Given the description of an element on the screen output the (x, y) to click on. 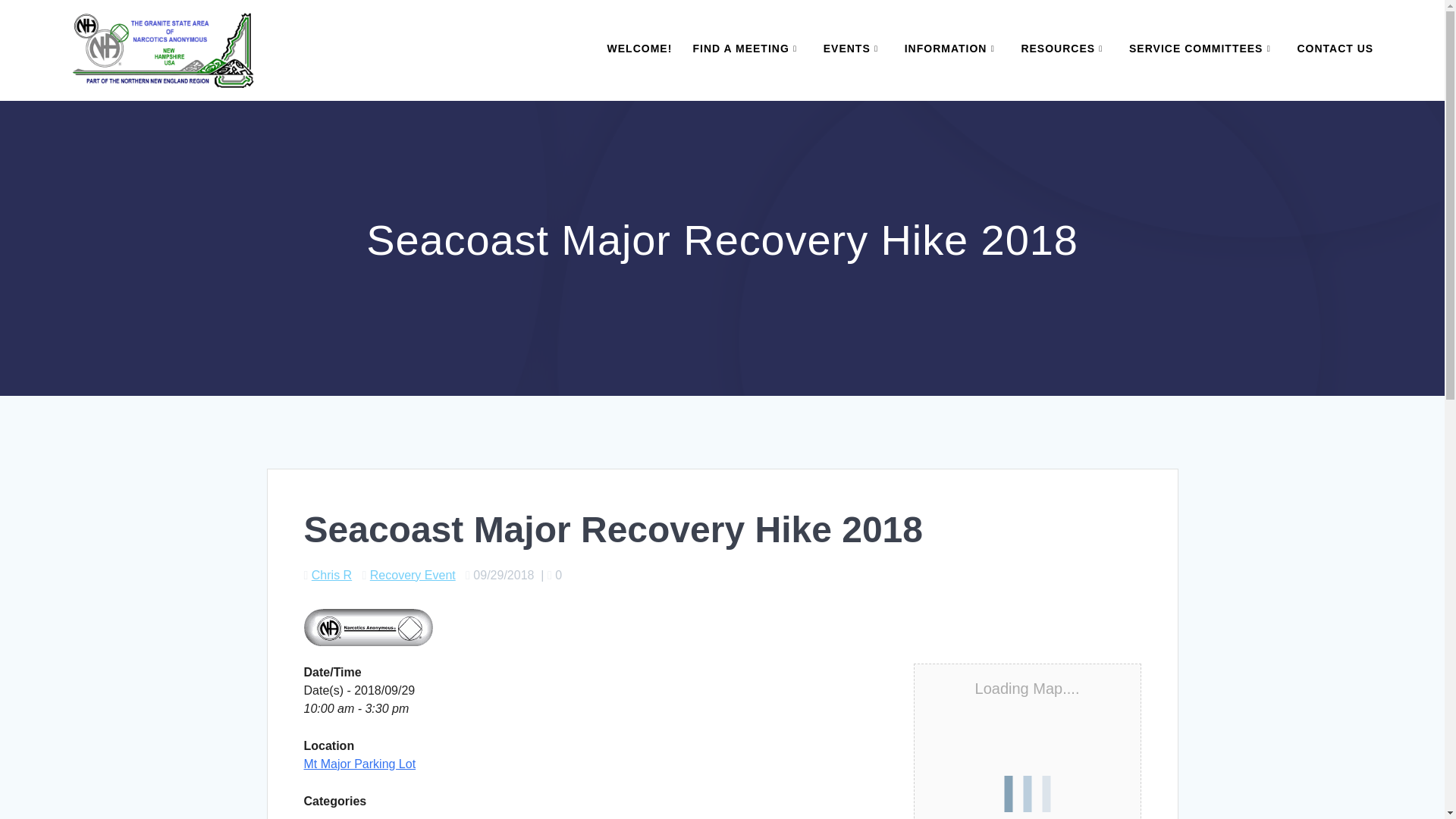
WELCOME! (639, 49)
View all posts in Recovery Event (412, 574)
CONTACT US (1335, 49)
Posts by Chris R (331, 574)
RESOURCES (1064, 49)
SERVICE COMMITTEES (1202, 49)
FIND A MEETING (747, 49)
INFORMATION (952, 49)
EVENTS (853, 49)
